Given the description of an element on the screen output the (x, y) to click on. 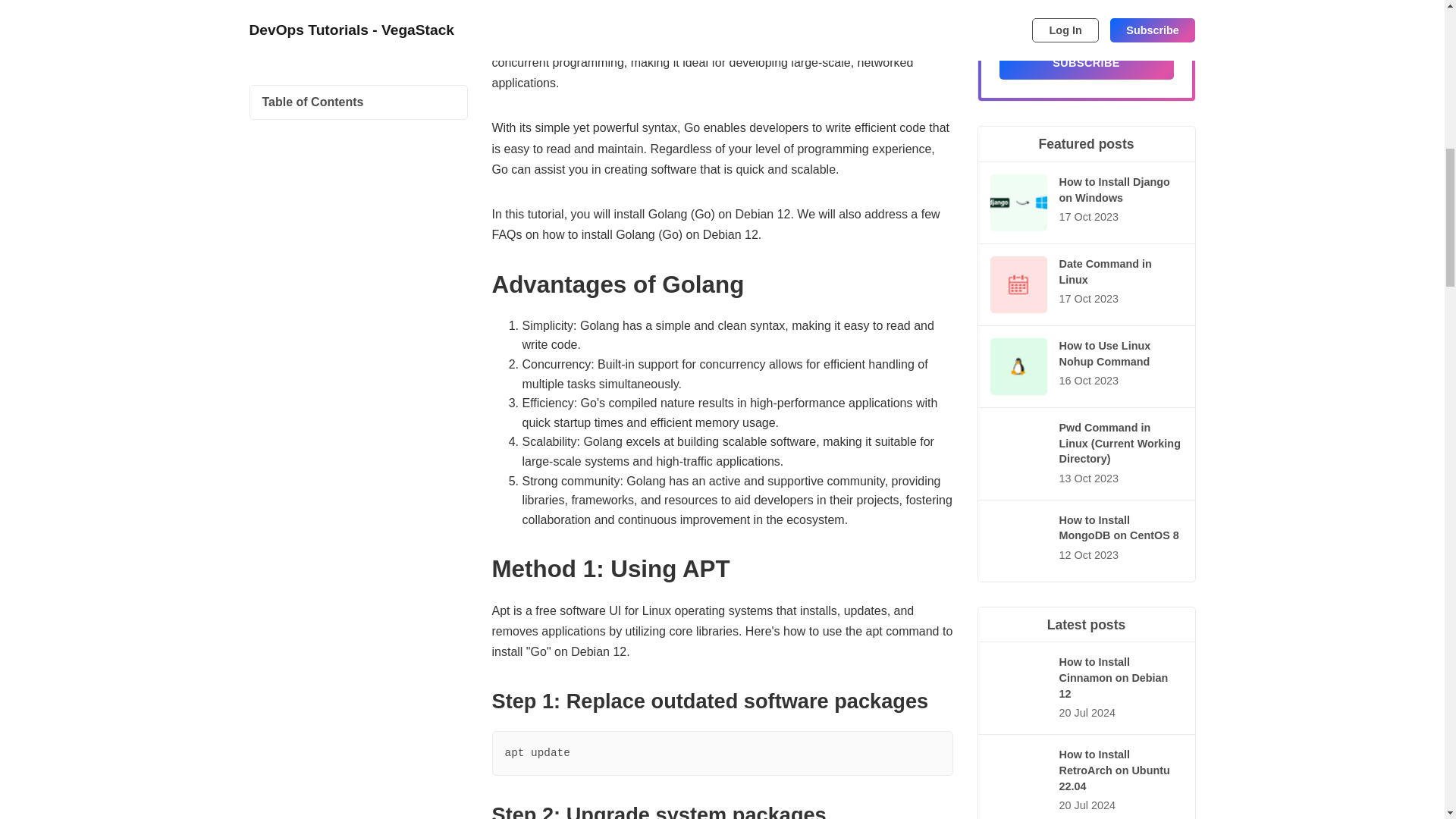
SUBSCRIBE (1085, 62)
